Given the description of an element on the screen output the (x, y) to click on. 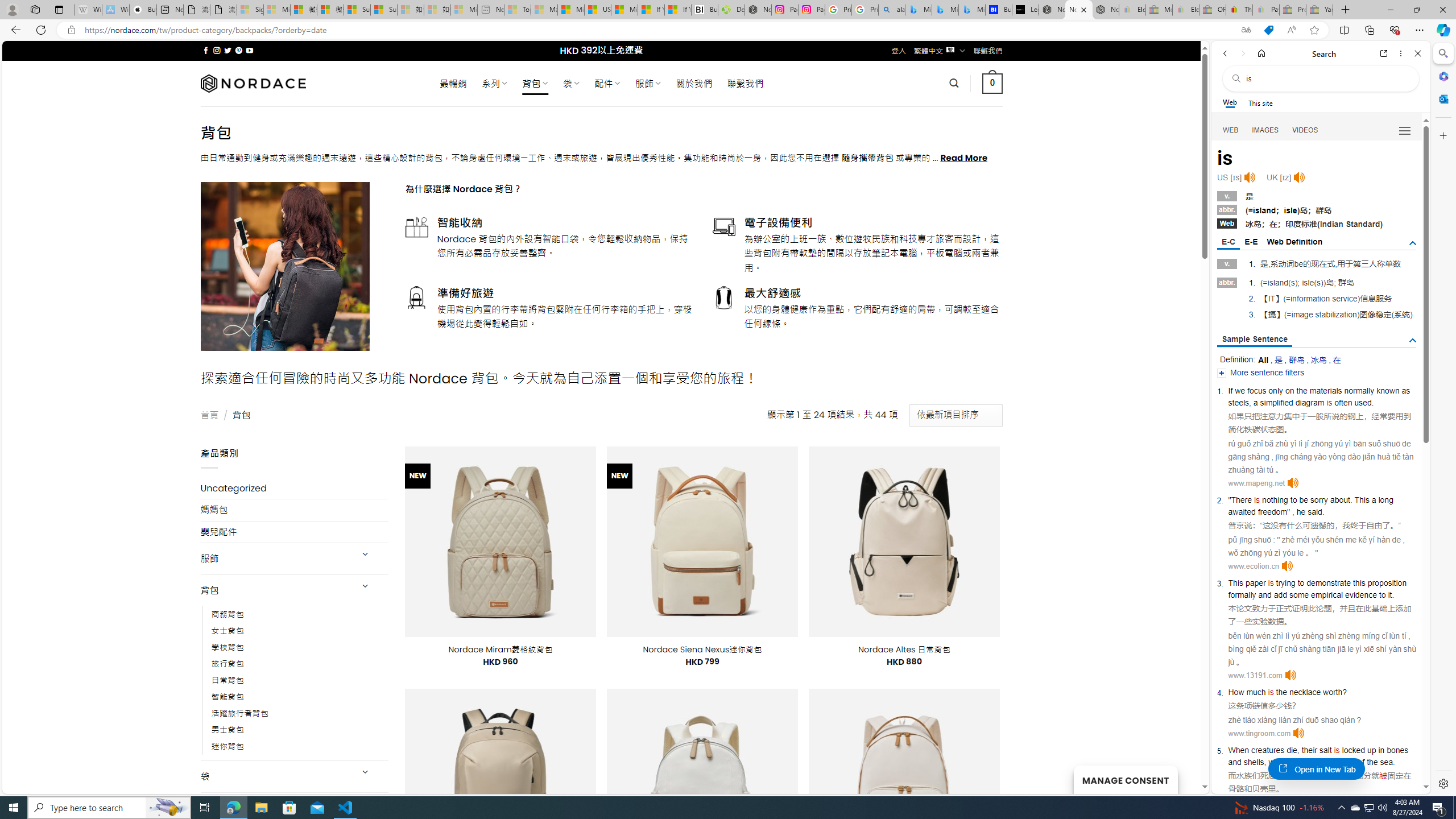
Microsoft Bing Travel - Flights from Hong Kong to Bangkok (917, 9)
Uncategorized (294, 488)
www.13191.com (1254, 674)
diagram (1309, 402)
